Given the description of an element on the screen output the (x, y) to click on. 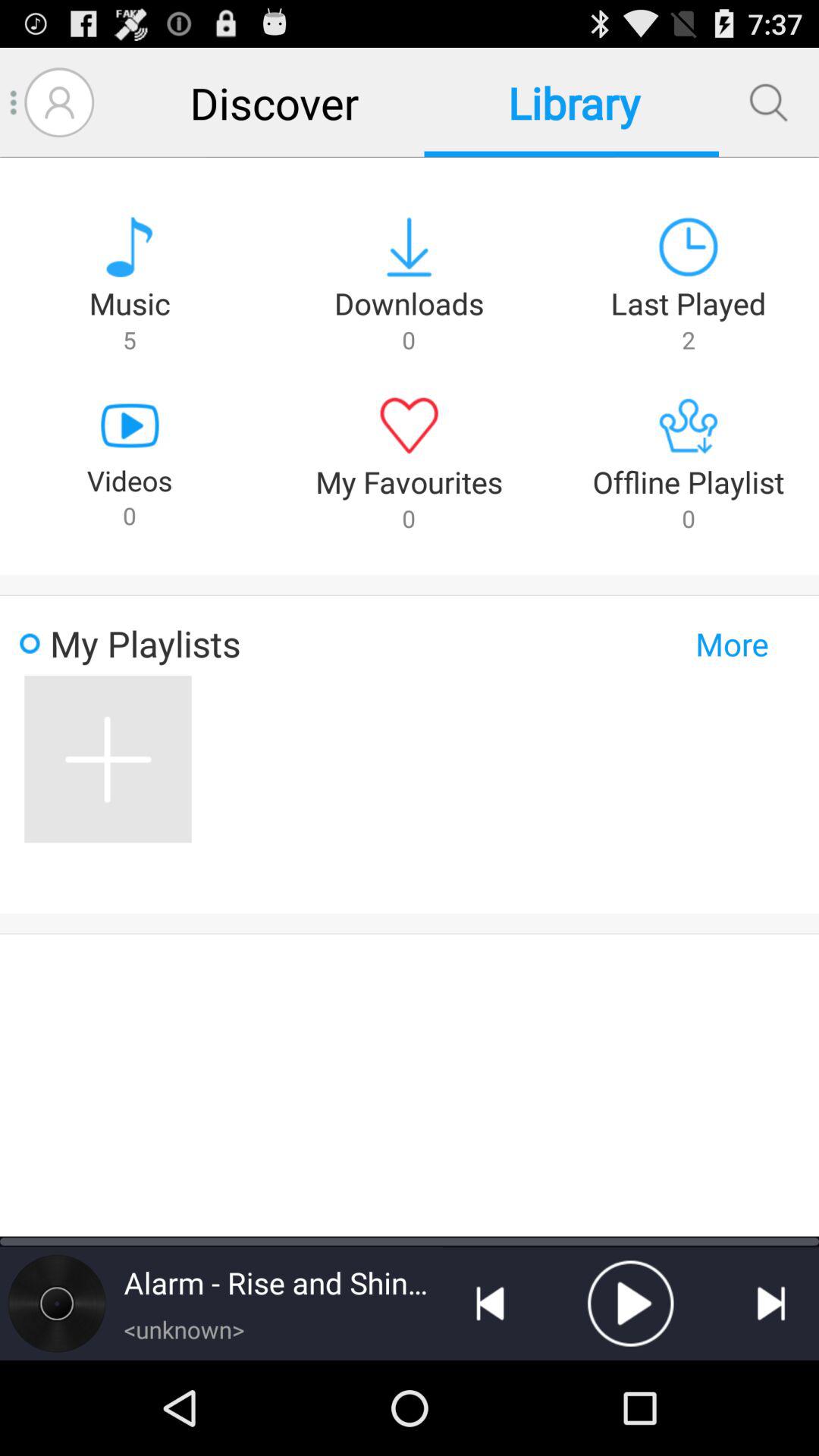
turn off item next to the alarm rise and (490, 1303)
